Given the description of an element on the screen output the (x, y) to click on. 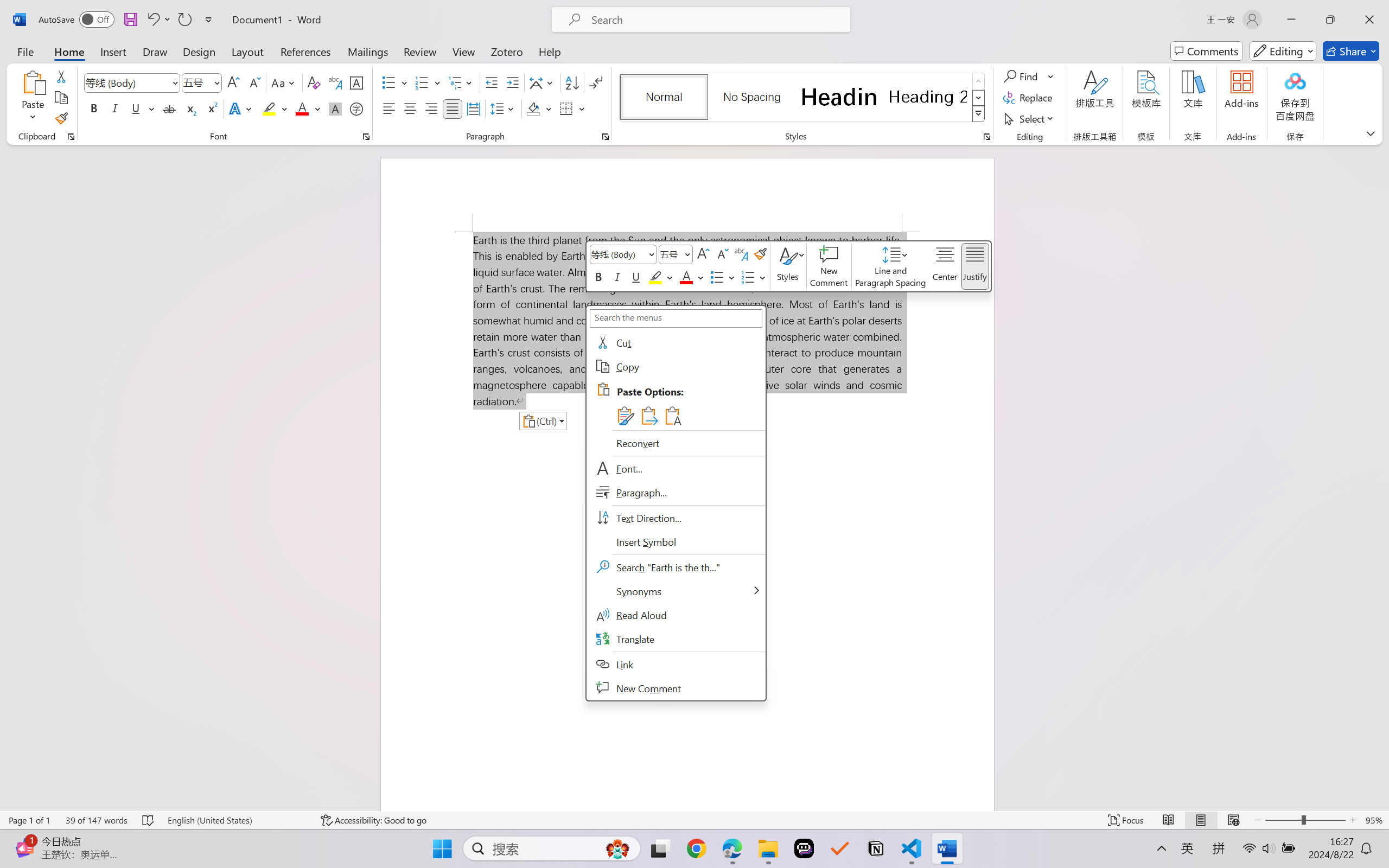
Cut (675, 342)
Class: NetUIComboboxAnchor (675, 253)
Clear Formatting (313, 82)
Heading 1 (839, 96)
Text Highlight Color Yellow (269, 108)
Subscript (190, 108)
Font... (675, 468)
